Given the description of an element on the screen output the (x, y) to click on. 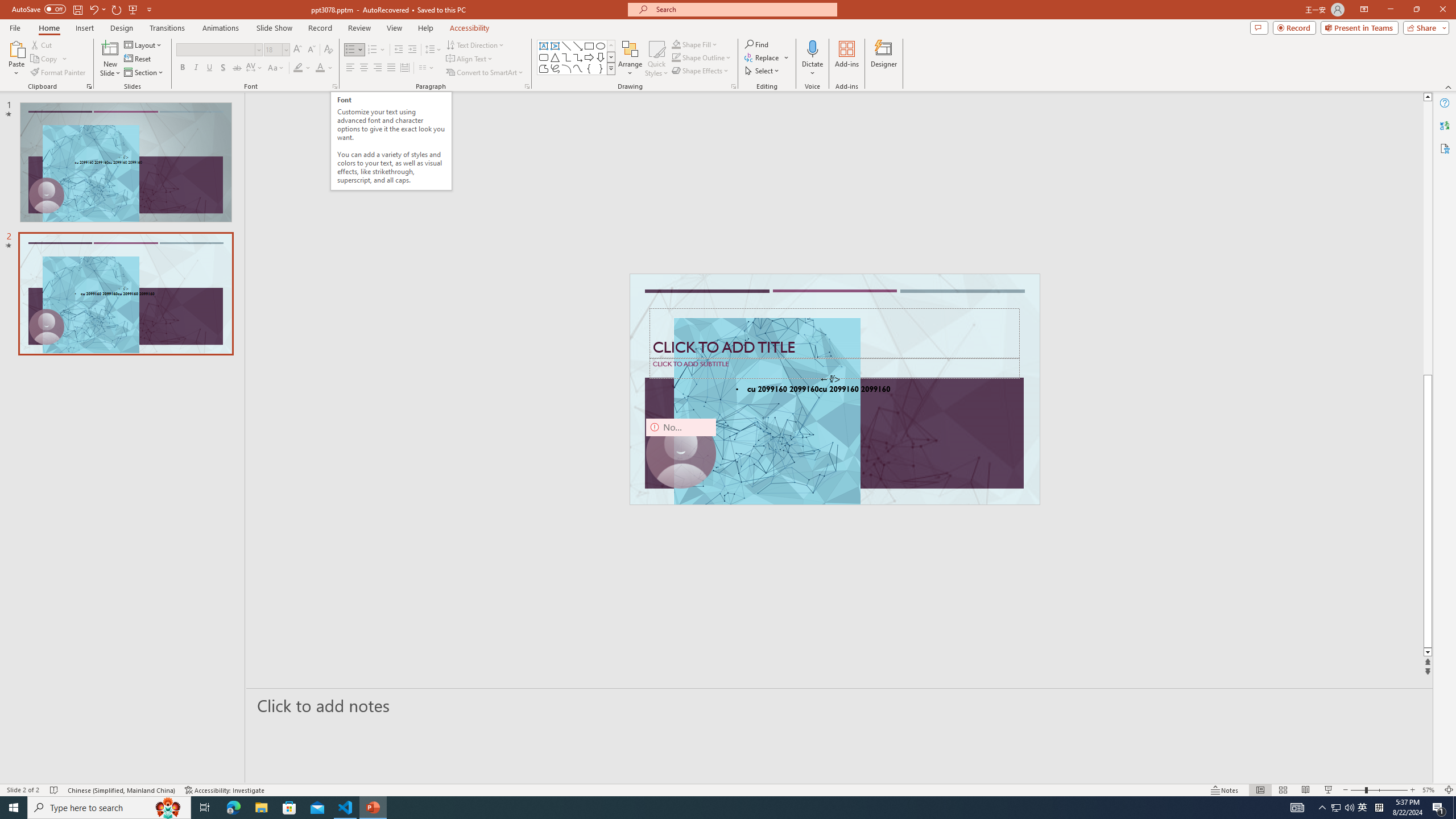
Rectangle (589, 45)
Isosceles Triangle (554, 57)
Copy (49, 58)
Replace... (767, 56)
Format Painter (58, 72)
Shape Outline Green, Accent 1 (675, 56)
Class: NetUIImage (610, 68)
Center (363, 67)
Review (359, 28)
Replace... (762, 56)
Designer (883, 58)
Font... (334, 85)
Dictate (812, 58)
Connector: Elbow (566, 57)
